Given the description of an element on the screen output the (x, y) to click on. 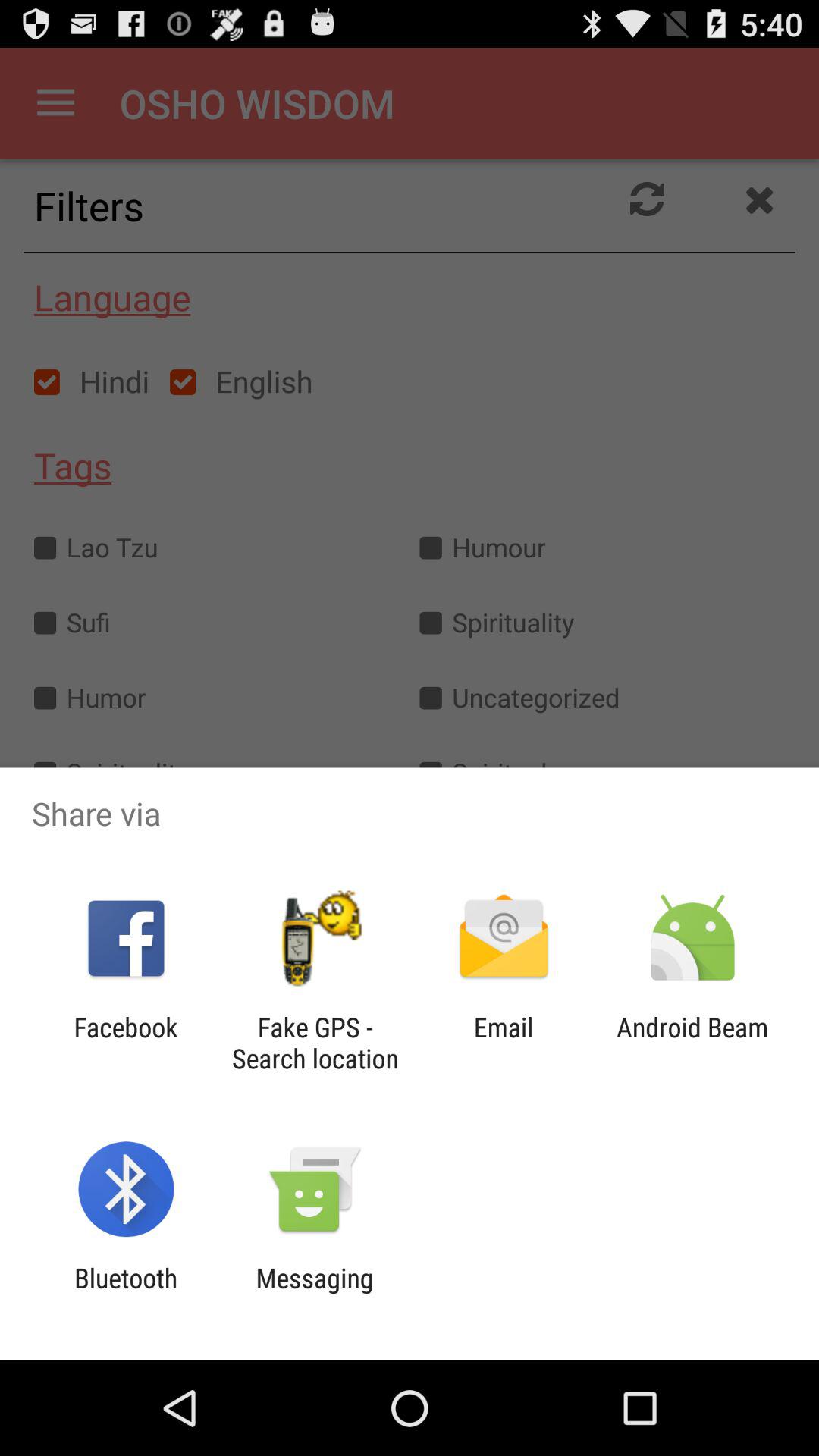
turn off item next to the email item (314, 1042)
